Given the description of an element on the screen output the (x, y) to click on. 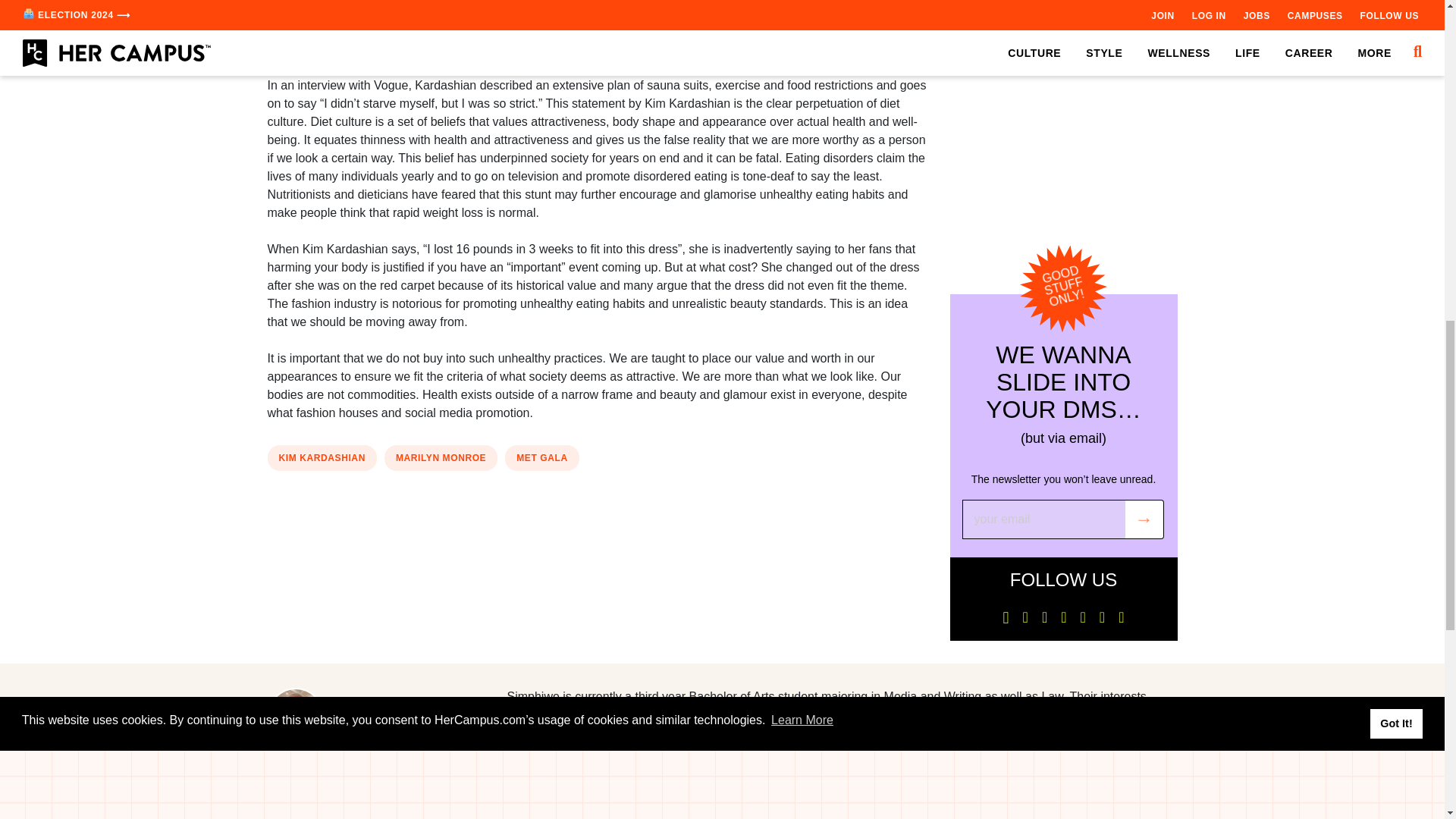
3rd party ad content (1062, 105)
3rd party ad content (597, 29)
3rd party ad content (597, 526)
